Given the description of an element on the screen output the (x, y) to click on. 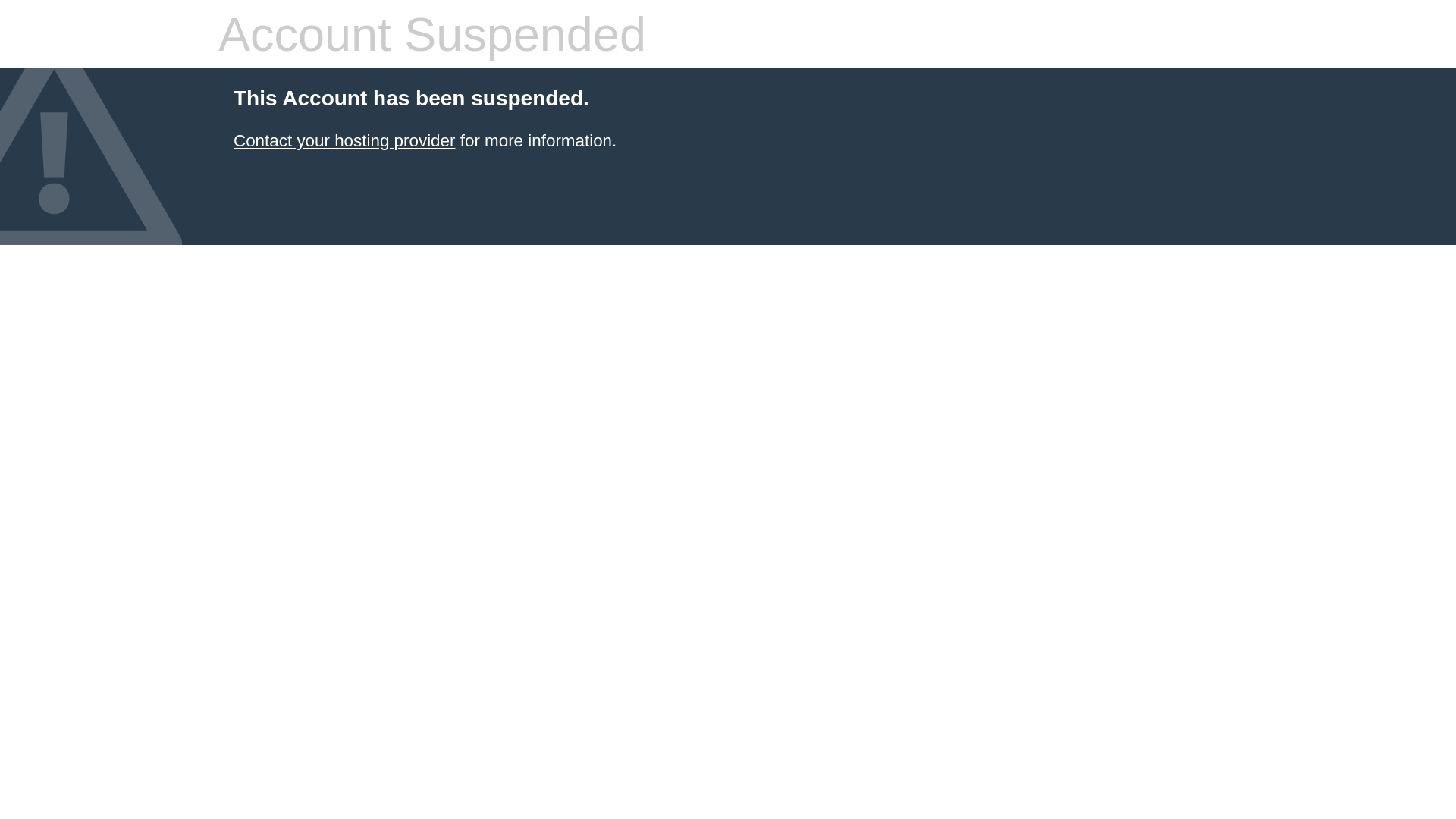
Contact your hosting provider Element type: text (344, 140)
